Given the description of an element on the screen output the (x, y) to click on. 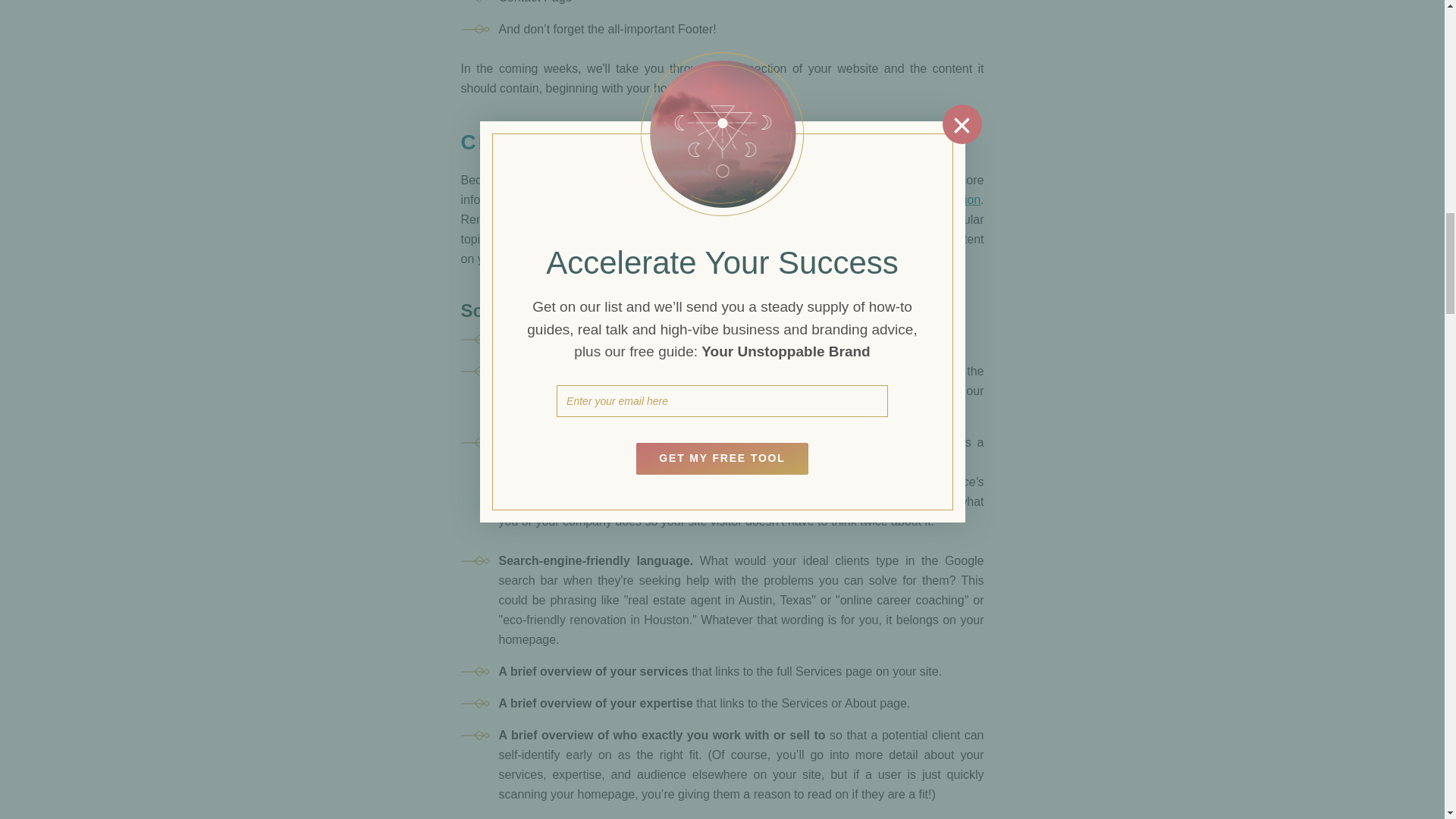
Startup Fashion (938, 199)
our own (658, 199)
